Given the description of an element on the screen output the (x, y) to click on. 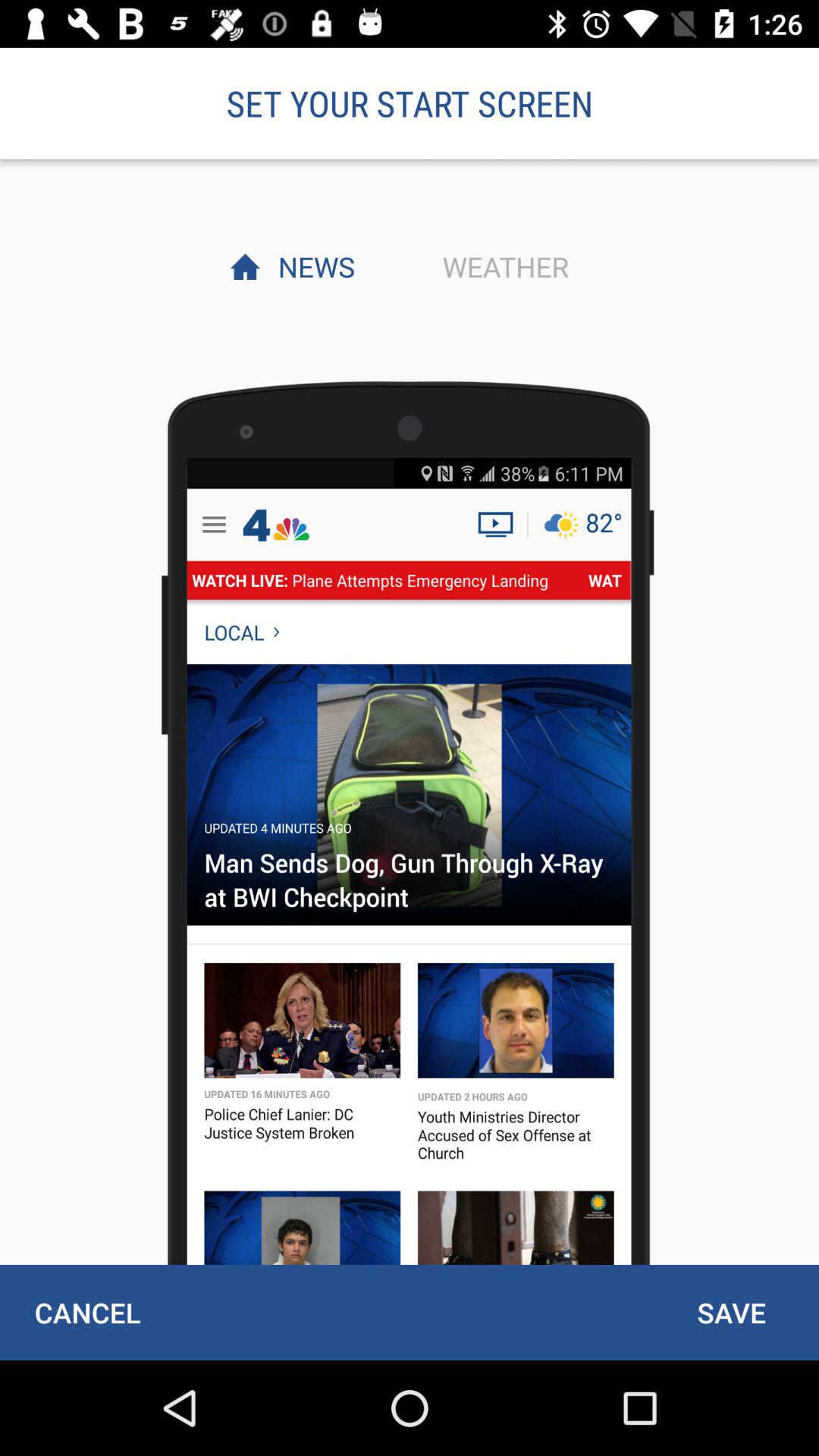
launch icon below set your start item (312, 266)
